Given the description of an element on the screen output the (x, y) to click on. 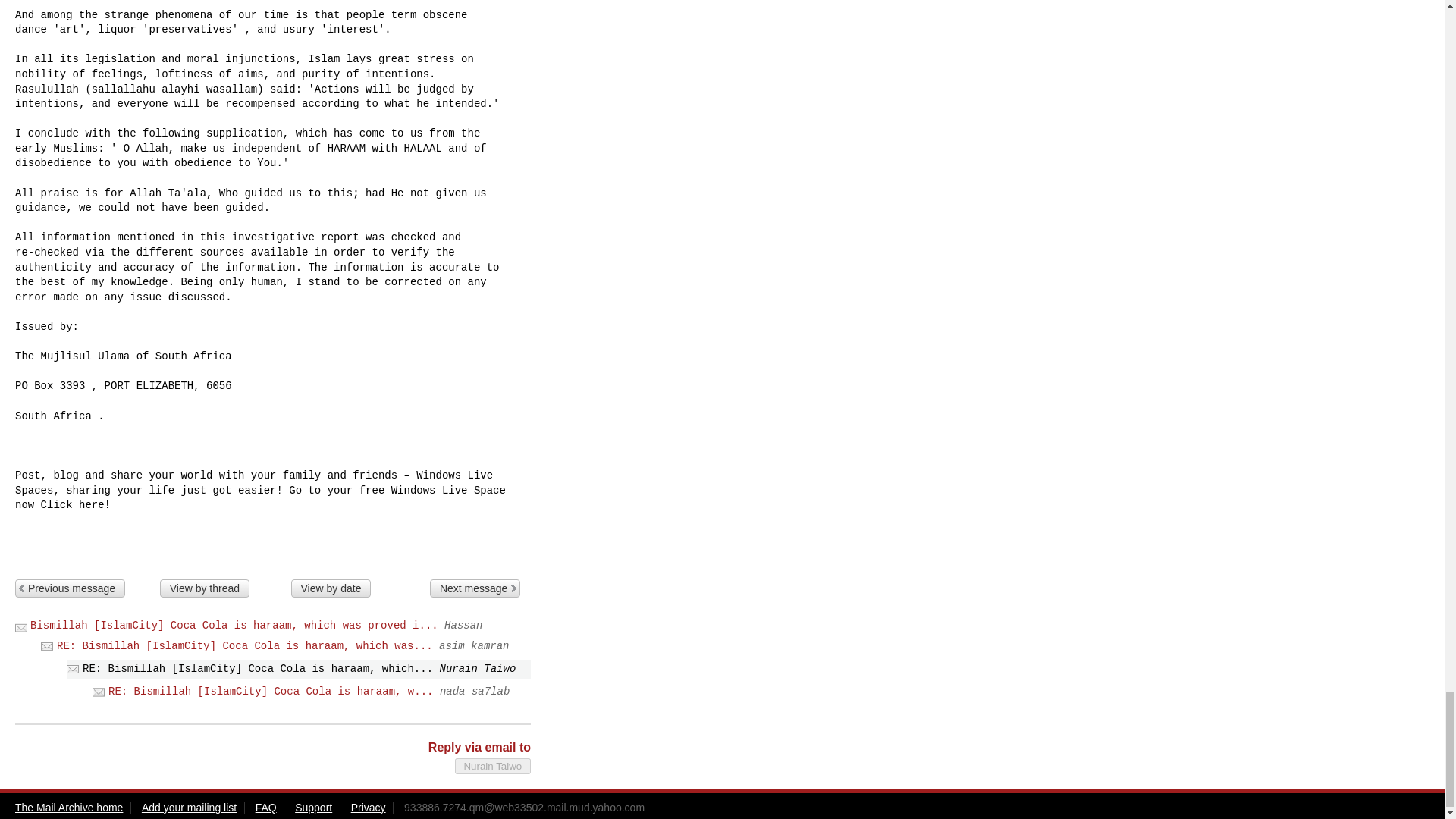
Support (313, 807)
 Nurain Taiwo  (492, 765)
The Mail Archive home (68, 807)
FAQ (266, 807)
Add your mailing list (188, 807)
View by date (331, 587)
 Nurain Taiwo  (492, 765)
Privacy (367, 807)
View by thread (204, 587)
Next message (474, 587)
